Given the description of an element on the screen output the (x, y) to click on. 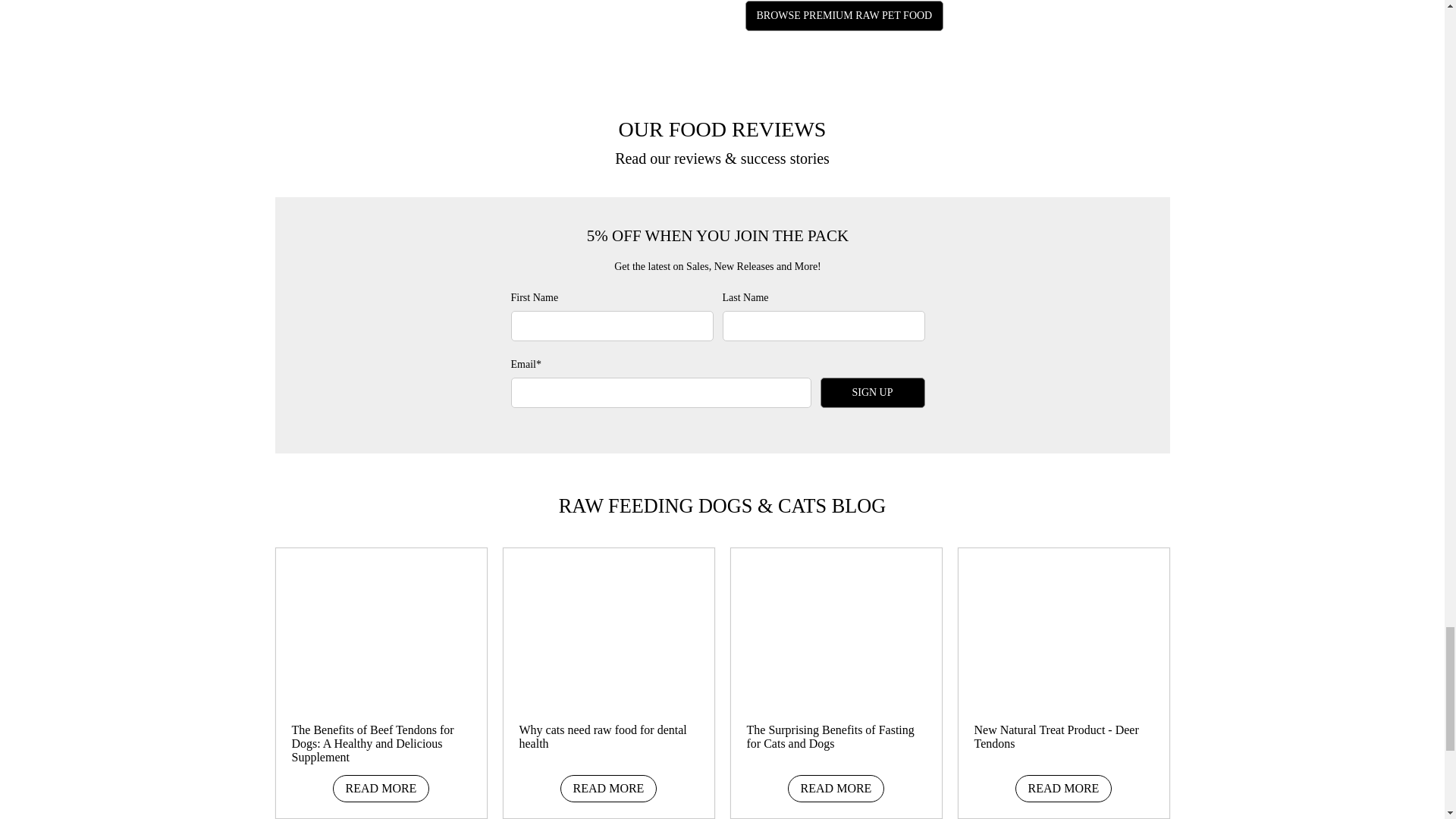
New Natural Treat Product - Deer Tendons (1063, 627)
The Surprising Benefits of Fasting for Cats and Dogs (829, 736)
Why cats need raw food for dental health (601, 736)
The Surprising Benefits of Fasting for Cats and Dogs (836, 627)
New Natural Treat Product - Deer Tendons (1056, 736)
Why cats need raw food for dental health (608, 627)
